Given the description of an element on the screen output the (x, y) to click on. 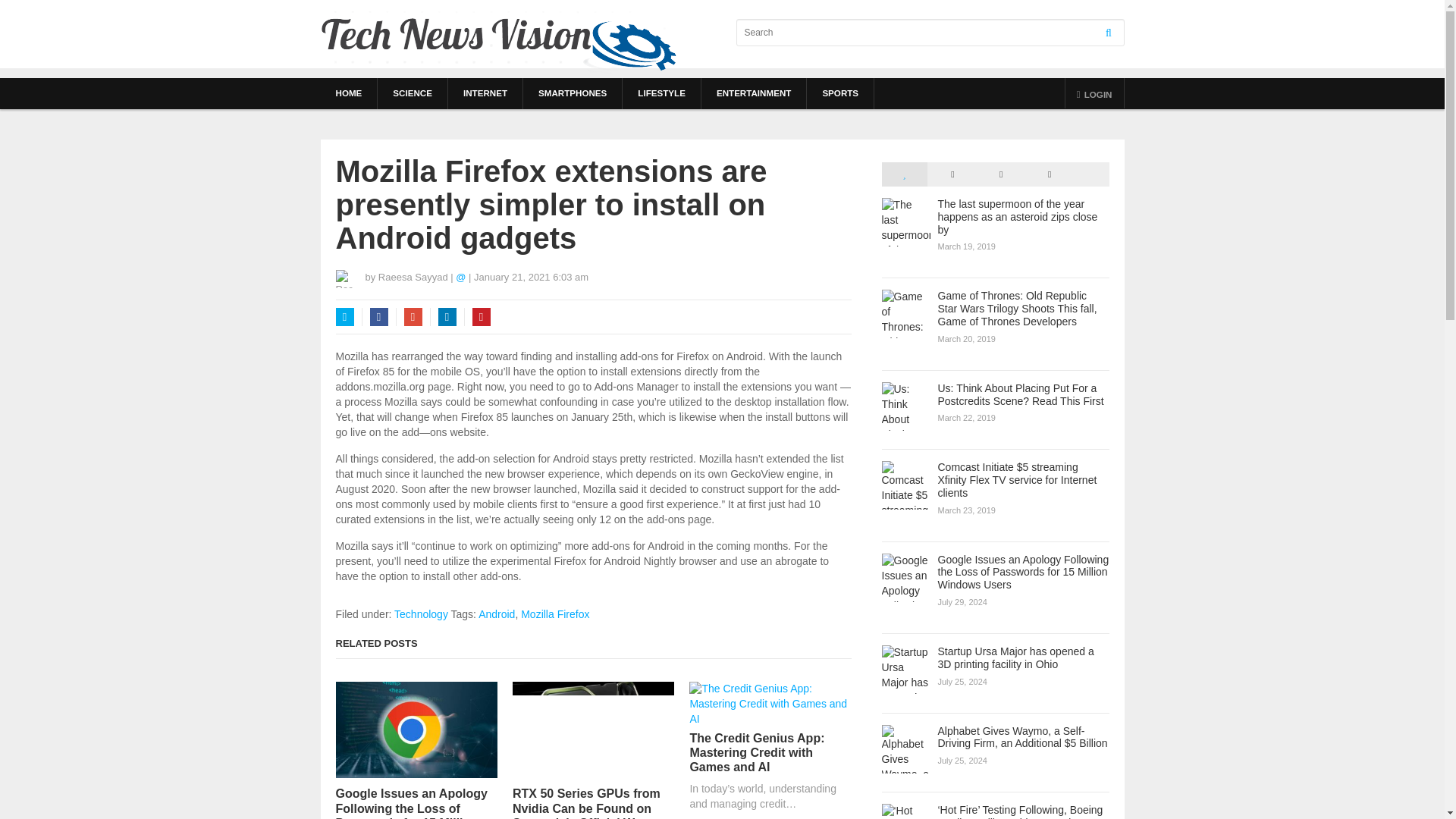
LOGIN (1094, 92)
Comments (1000, 174)
ENTERTAINMENT (753, 92)
SCIENCE (411, 92)
Latest (952, 174)
Mozilla Firefox (555, 613)
LinkedIn (447, 316)
Raeesa Sayyad (413, 276)
LIFESTYLE (661, 92)
Android (497, 613)
SPORTS (839, 92)
